Given the description of an element on the screen output the (x, y) to click on. 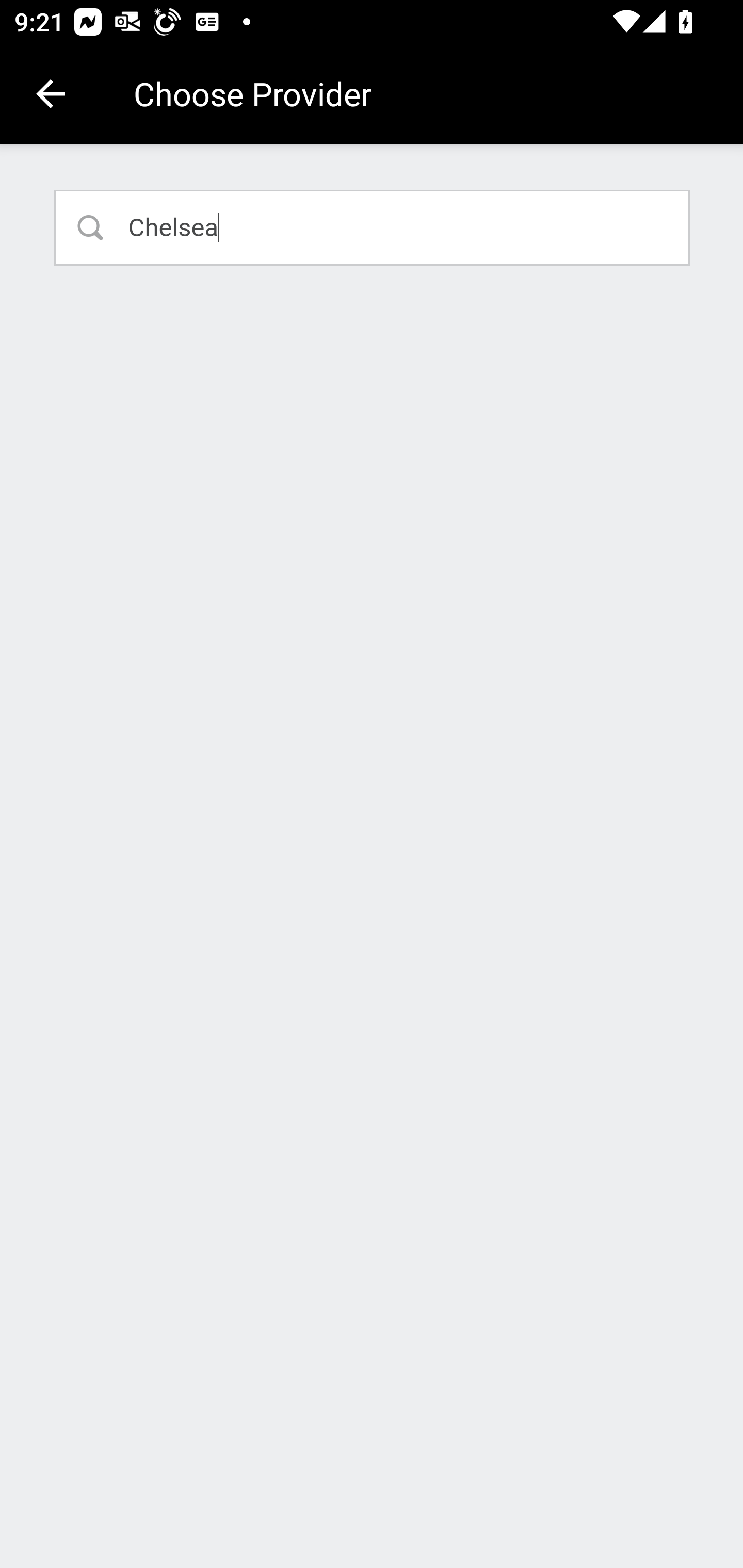
Navigate up (50, 93)
Chelsea (372, 227)
